Given the description of an element on the screen output the (x, y) to click on. 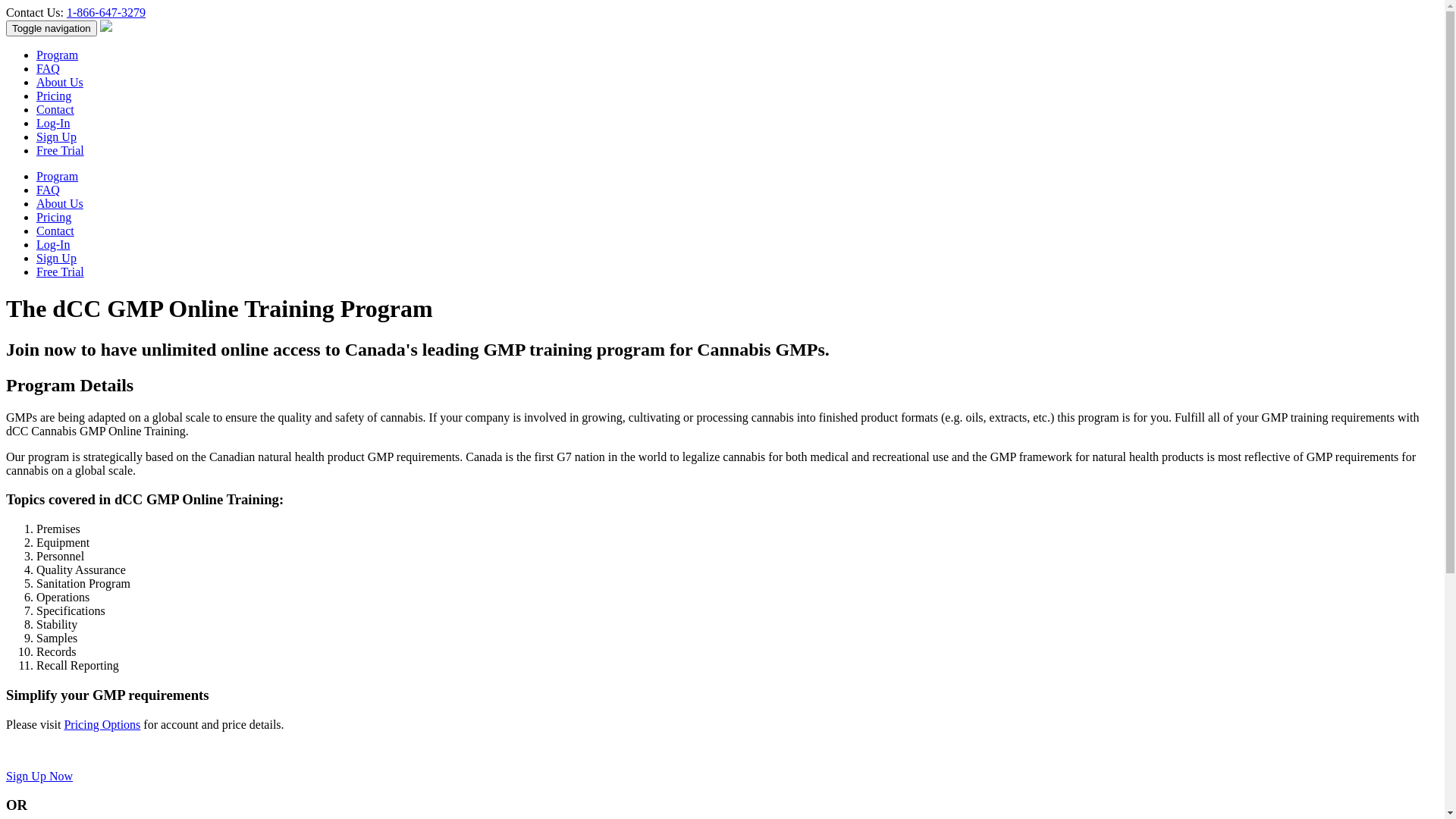
FAQ Element type: text (47, 189)
About Us Element type: text (59, 81)
Free Trial Element type: text (60, 271)
Pricing Options Element type: text (101, 724)
Program Element type: text (57, 175)
Toggle navigation Element type: text (51, 28)
Sign Up Element type: text (56, 136)
Log-In Element type: text (52, 244)
Sign Up Now Element type: text (39, 775)
Contact Element type: text (55, 109)
Log-In Element type: text (52, 122)
Contact Element type: text (55, 230)
1-866-647-3279 Element type: text (105, 12)
FAQ Element type: text (47, 68)
Sign Up Element type: text (56, 257)
Pricing Element type: text (53, 216)
Free Trial Element type: text (60, 150)
Program Element type: text (57, 54)
Pricing Element type: text (53, 95)
About Us Element type: text (59, 203)
